Given the description of an element on the screen output the (x, y) to click on. 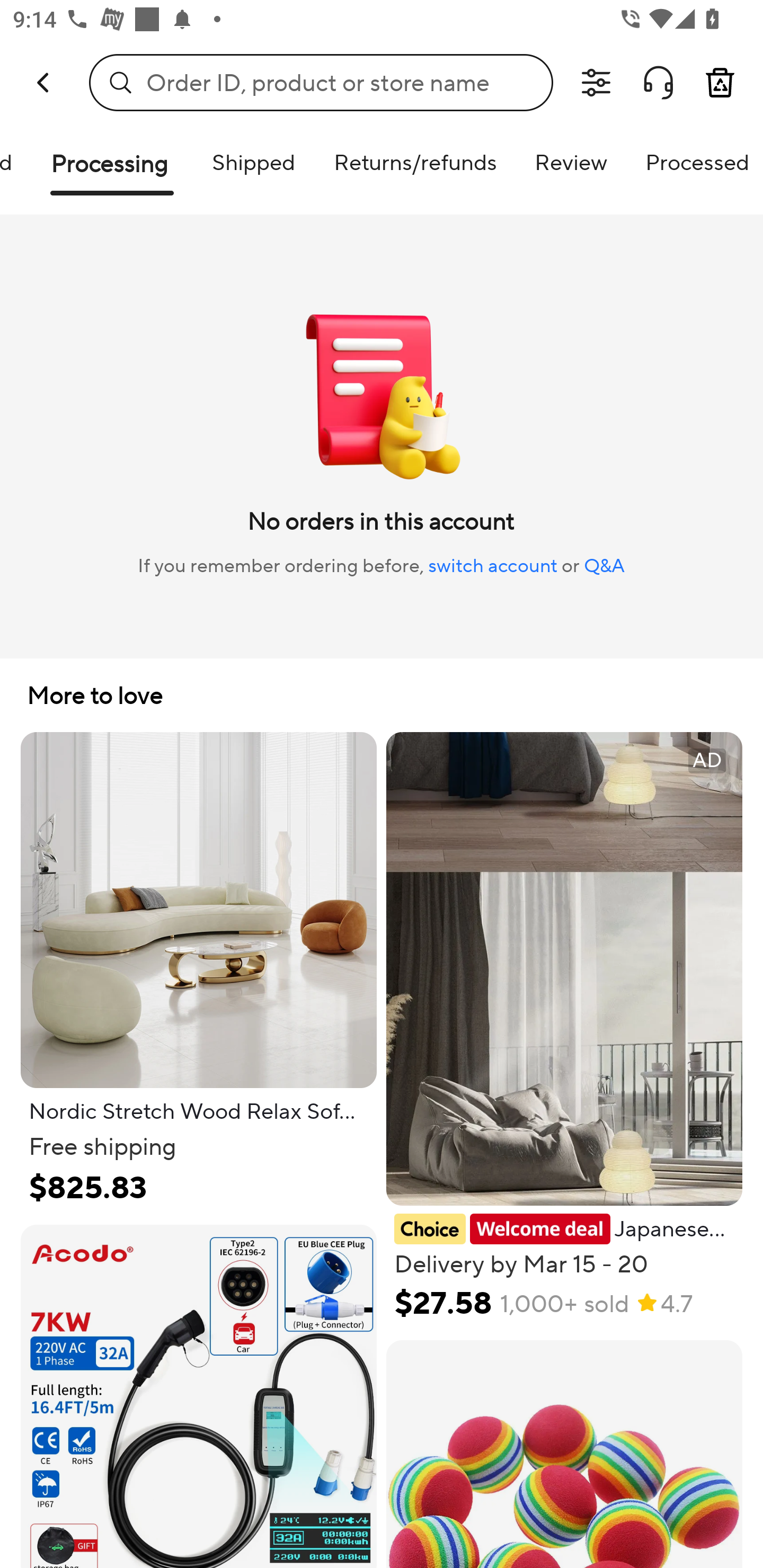
Navigate up (44, 82)
 Order ID, product or store name (321, 82)
 (595, 82)
 (658, 82)
Processing (112, 170)
Shipped (253, 162)
Returns/refunds (414, 162)
Review (570, 162)
Processed (694, 162)
